Given the description of an element on the screen output the (x, y) to click on. 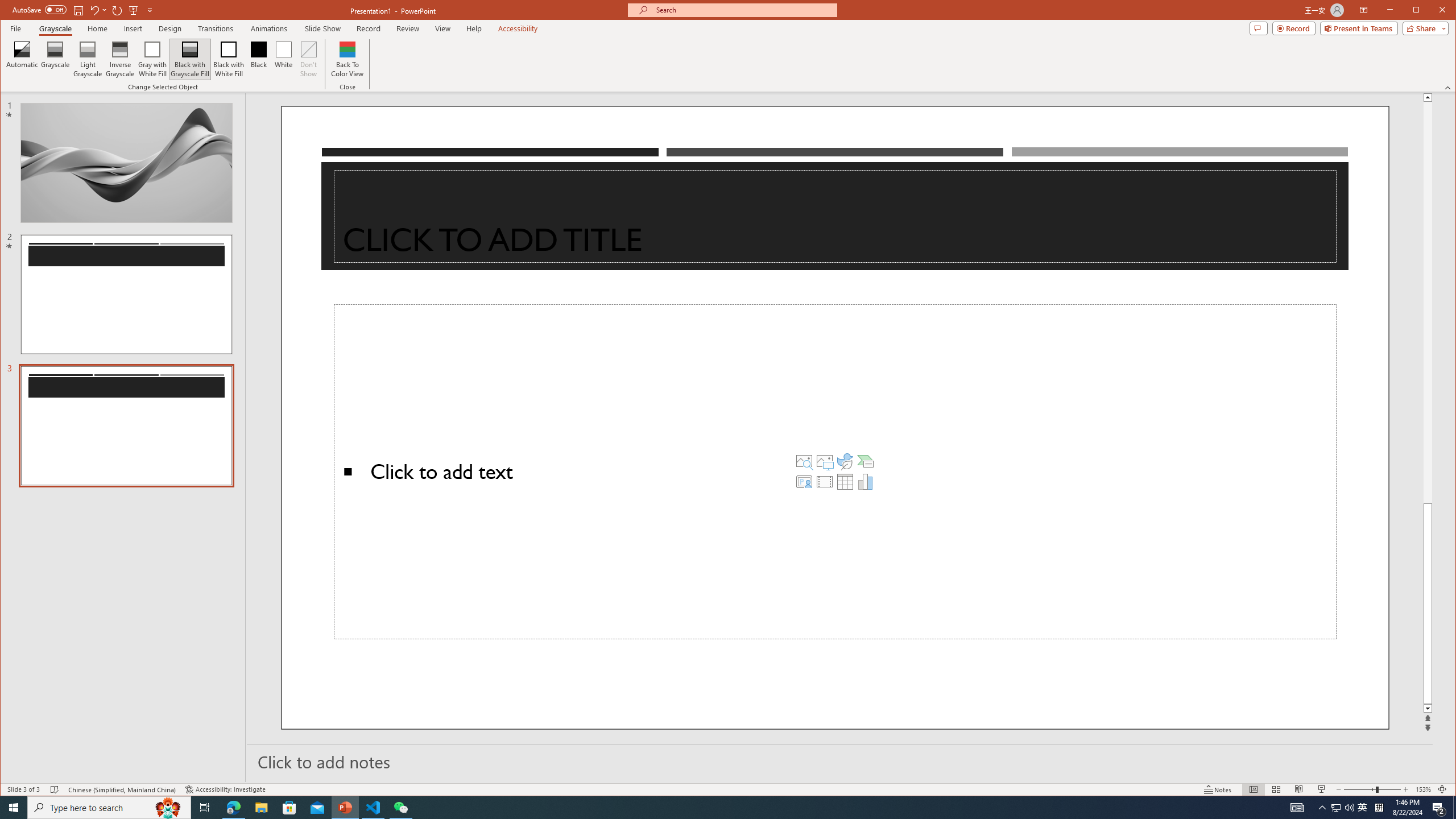
Notes  (1217, 789)
Don't Show (308, 59)
Microsoft Edge - 1 running window (233, 807)
Zoom to Fit  (1441, 789)
Maximize (1432, 11)
Stock Images (803, 461)
Black with Grayscale Fill (189, 59)
Start (13, 807)
